Given the description of an element on the screen output the (x, y) to click on. 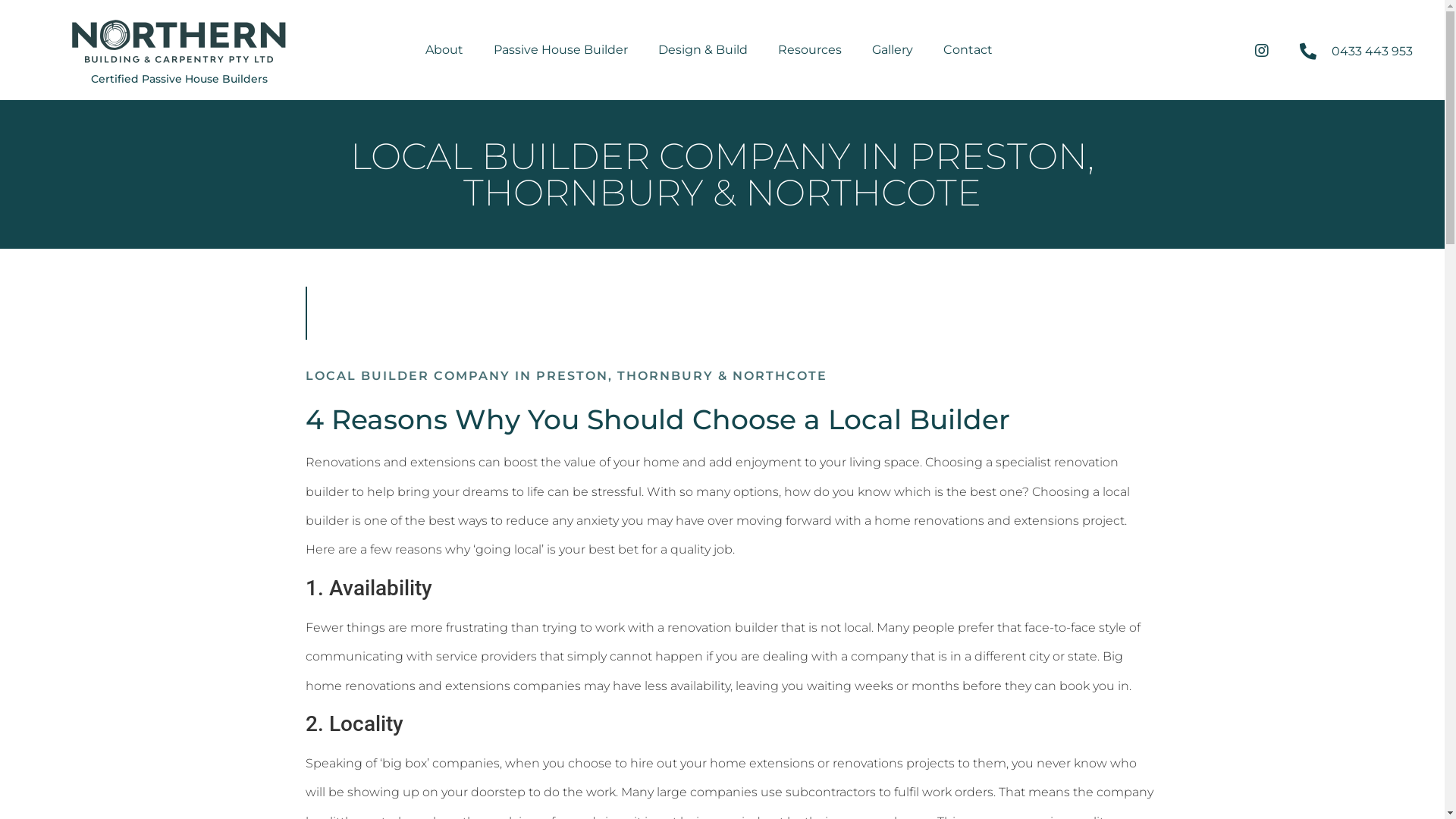
About Element type: text (444, 49)
Contact Element type: text (967, 49)
0433 443 953 Element type: text (1354, 51)
Passive House Builder Element type: text (560, 49)
Resources Element type: text (809, 49)
Gallery Element type: text (892, 49)
Design & Build Element type: text (702, 49)
